Given the description of an element on the screen output the (x, y) to click on. 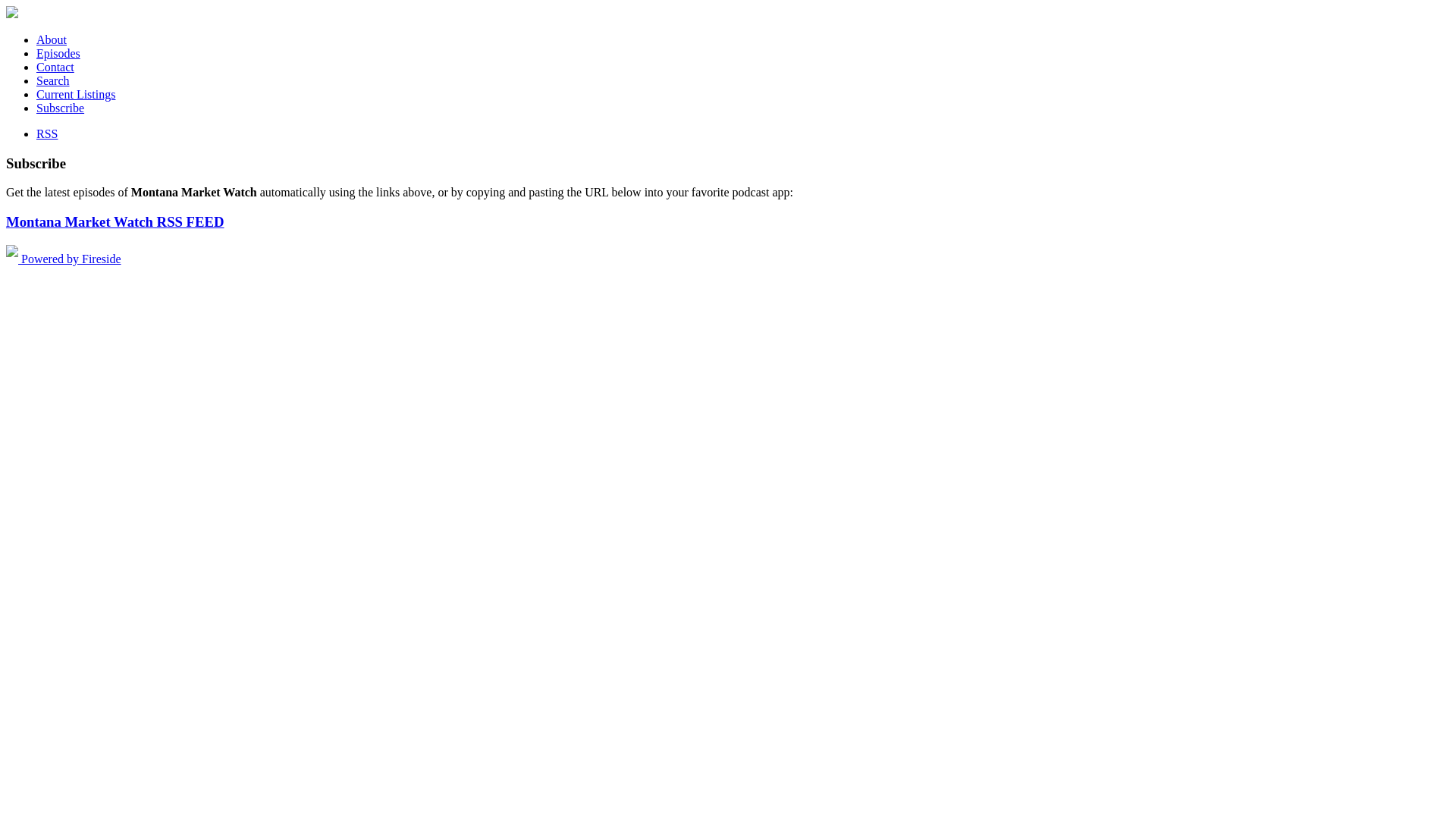
Powered by Fireside Element type: text (63, 258)
Episodes Element type: text (58, 53)
Contact Element type: text (55, 66)
Search Element type: text (52, 80)
Montana Market Watch RSS FEED Element type: text (115, 221)
About Element type: text (51, 39)
Current Listings Element type: text (75, 93)
Subscribe Element type: text (60, 107)
RSS Element type: text (46, 133)
